Given the description of an element on the screen output the (x, y) to click on. 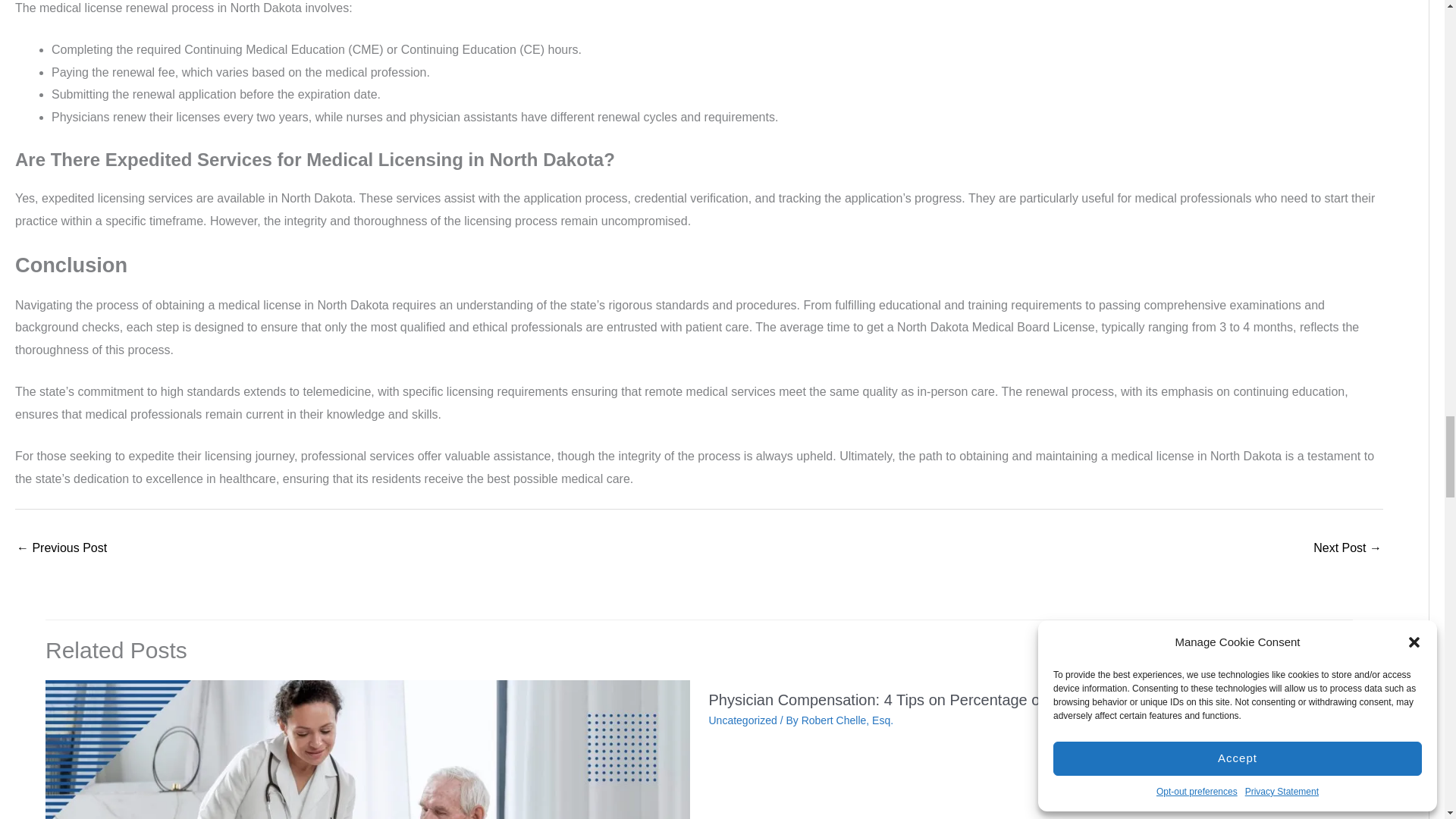
View all posts by Robert Chelle, Esq. (847, 720)
5 Steps to Successful Privilege Applications (1347, 549)
What Is a Letter of Intent for a Medical Job? (61, 549)
